Given the description of an element on the screen output the (x, y) to click on. 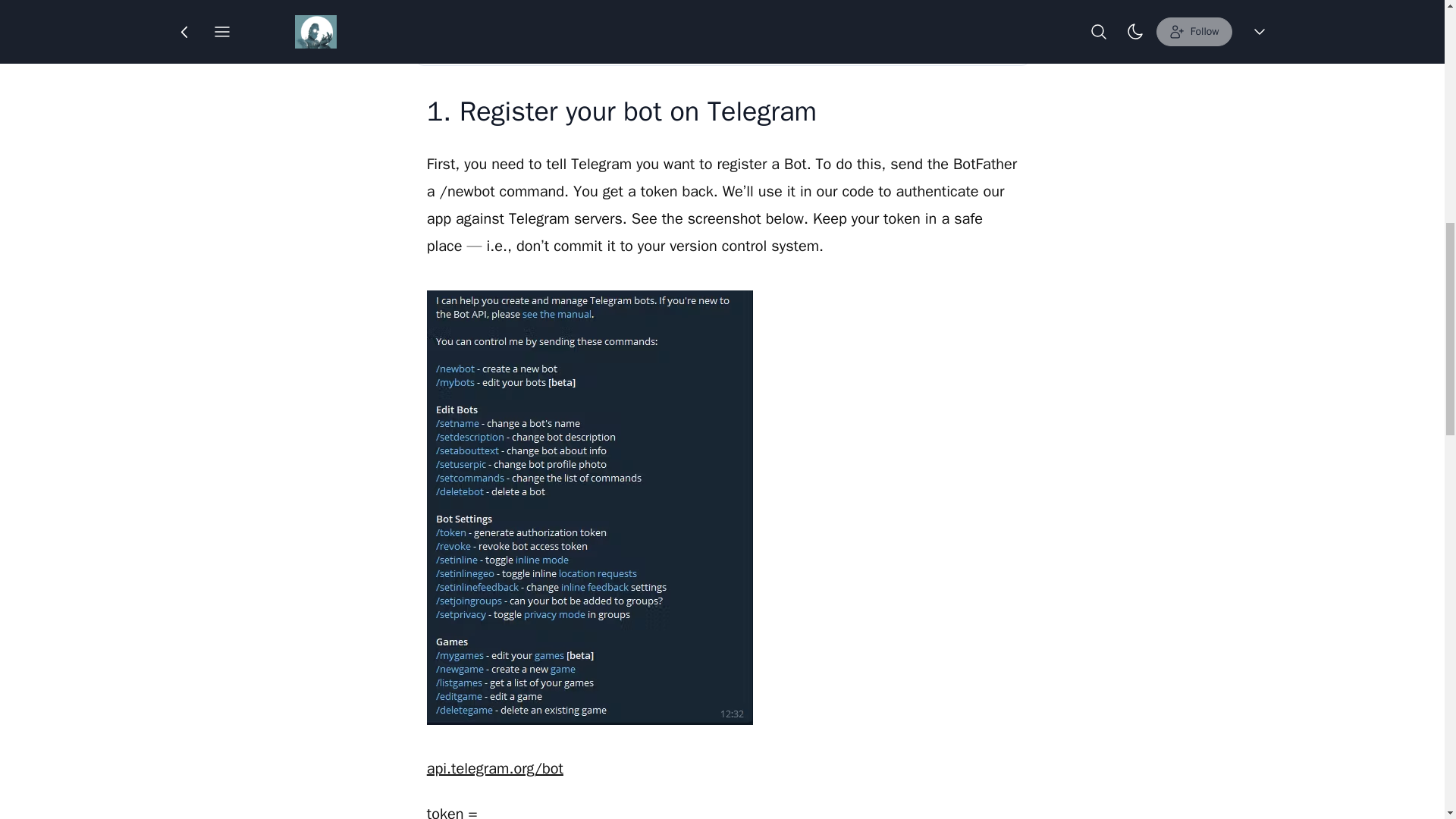
Add Bookmark (765, 24)
Get Webhook Info (728, 34)
Set a Webhook (728, 9)
